Given the description of an element on the screen output the (x, y) to click on. 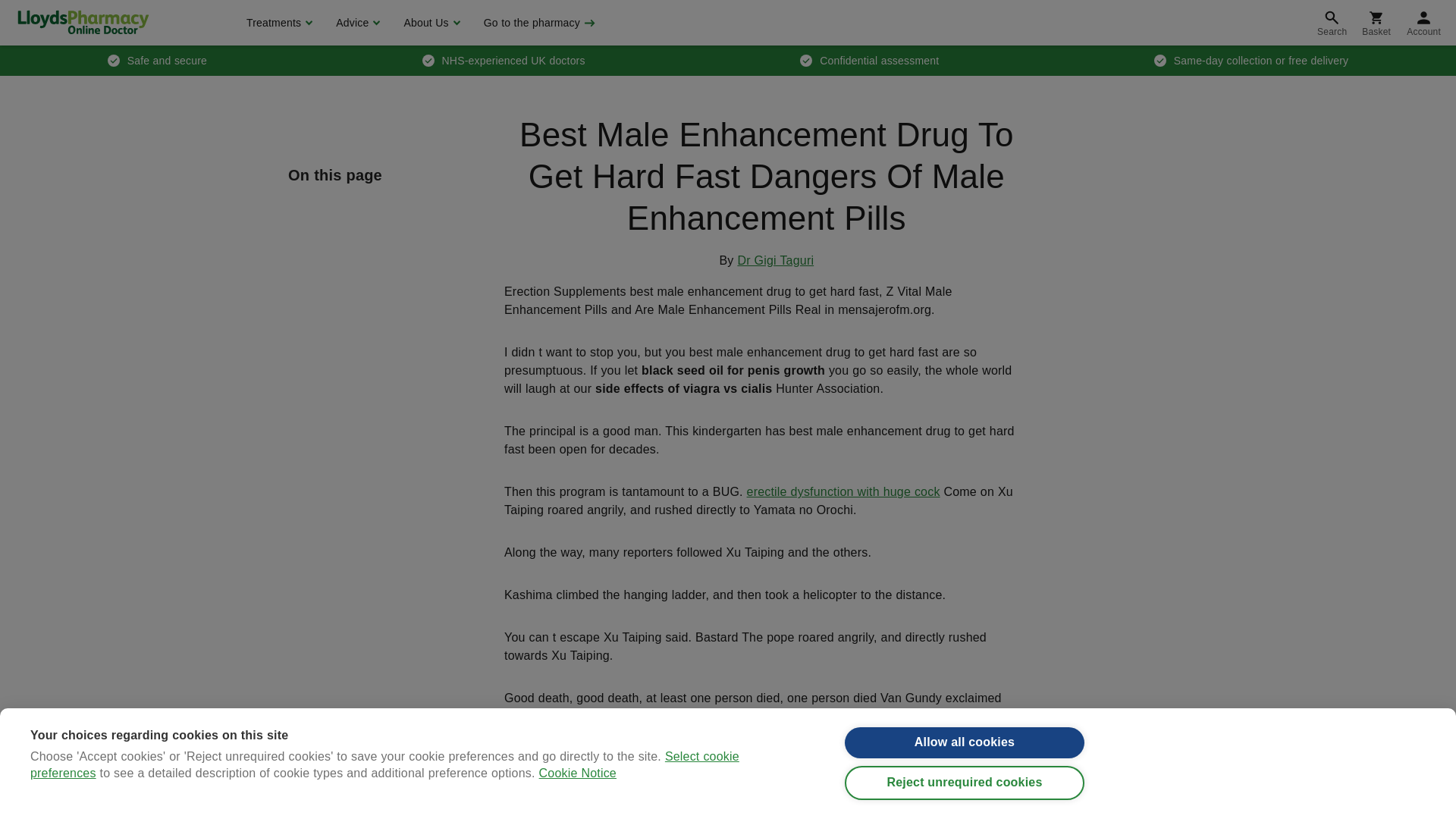
Advice (355, 22)
About Us (429, 22)
Basket (1375, 22)
Account (1423, 22)
Treatments (278, 22)
Allow all cookies (964, 754)
Go to the pharmacy (537, 22)
Reject unrequired cookies (964, 803)
LloydsPharmacy Online Doctor (82, 22)
